Given the description of an element on the screen output the (x, y) to click on. 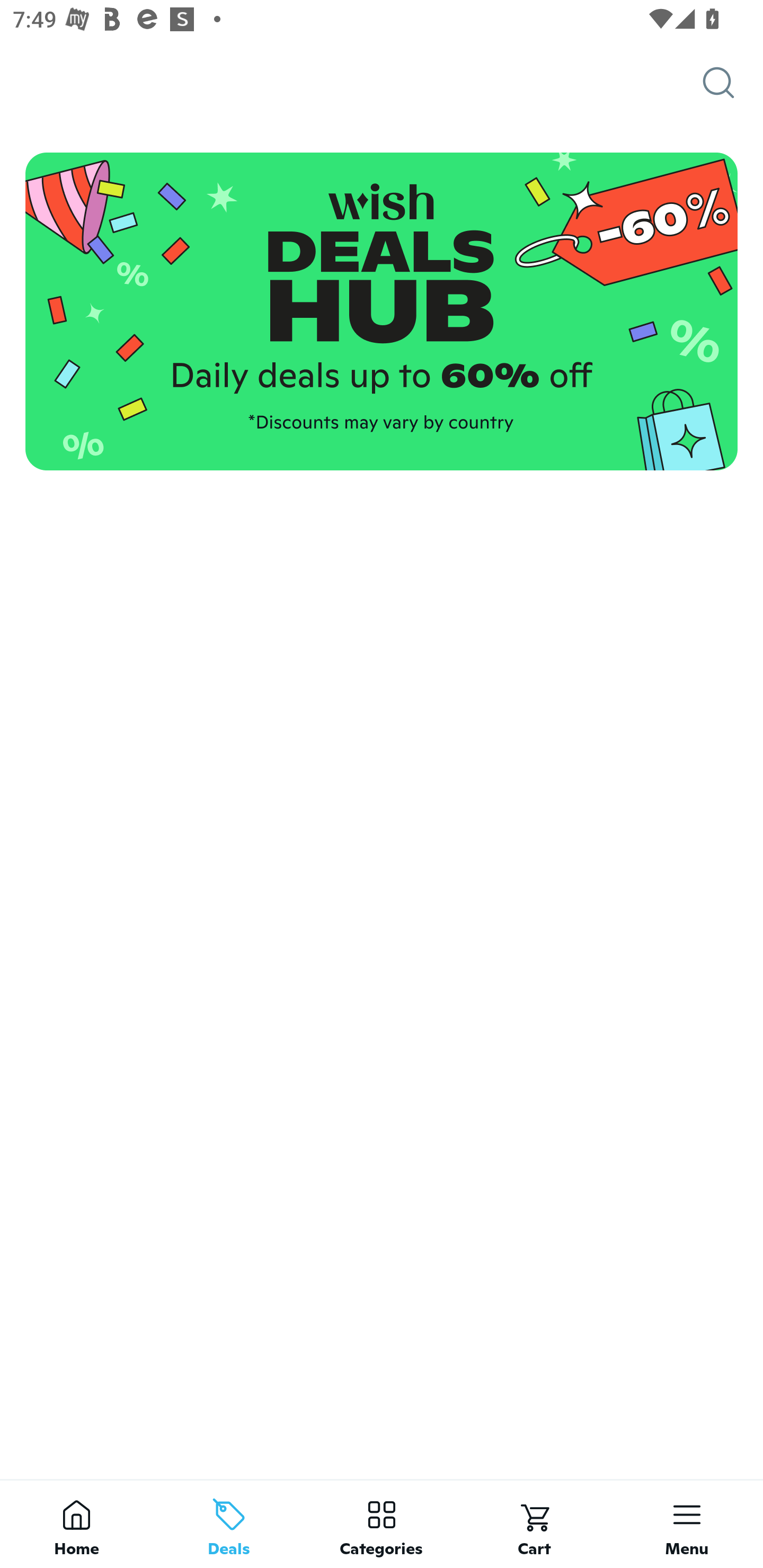
Search (732, 82)
Home (76, 1523)
Deals (228, 1523)
Categories (381, 1523)
Cart (533, 1523)
Menu (686, 1523)
